Given the description of an element on the screen output the (x, y) to click on. 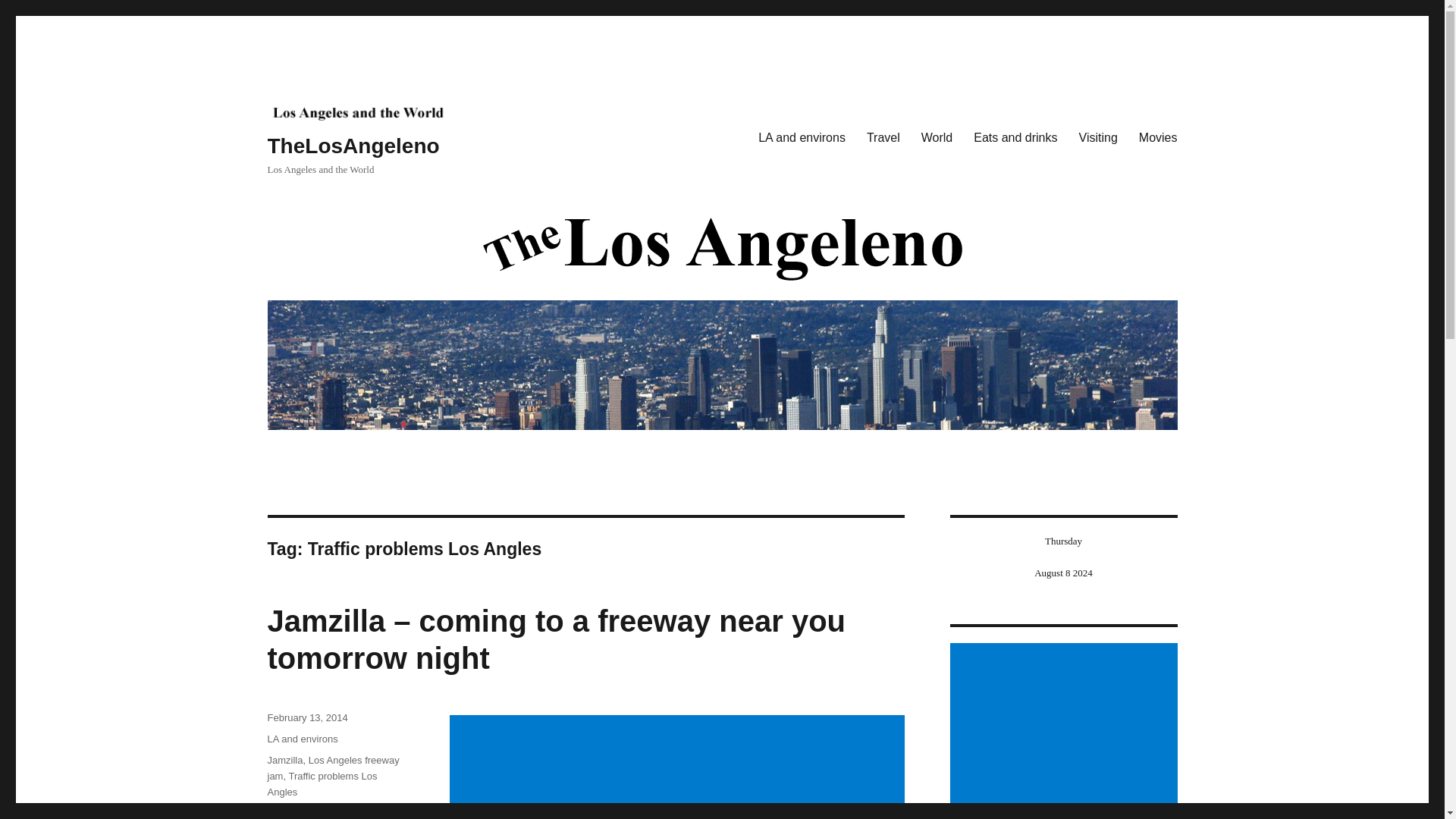
Advertisement (679, 767)
Advertisement (1065, 731)
TheLosAngeleno (352, 146)
Travel (883, 137)
Jamzilla (284, 759)
February 13, 2014 (306, 717)
Los Angeles freeway jam (332, 768)
Traffic problems Los Angles (321, 783)
Eats and drinks (1014, 137)
LA and environs (301, 738)
World (937, 137)
Movies (1158, 137)
Visiting (1098, 137)
LA and environs (802, 137)
